Given the description of an element on the screen output the (x, y) to click on. 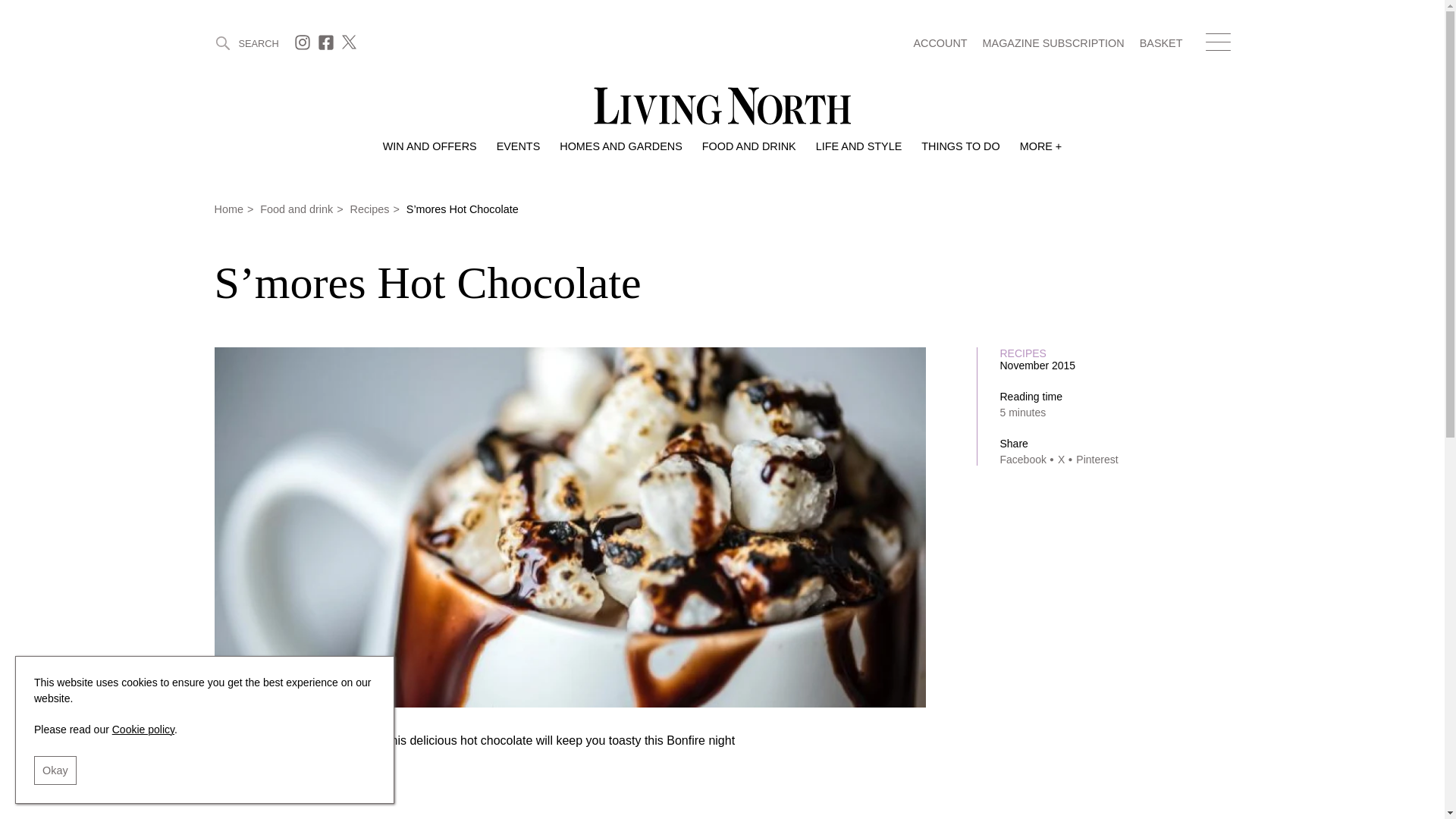
LIFE AND STYLE (858, 146)
ACCOUNT (939, 43)
Search (246, 42)
FOOD AND DRINK (748, 146)
Food and drink (748, 146)
X (350, 46)
SEARCH (246, 42)
HOMES AND GARDENS (620, 146)
Account (939, 43)
Facebook (327, 46)
